Given the description of an element on the screen output the (x, y) to click on. 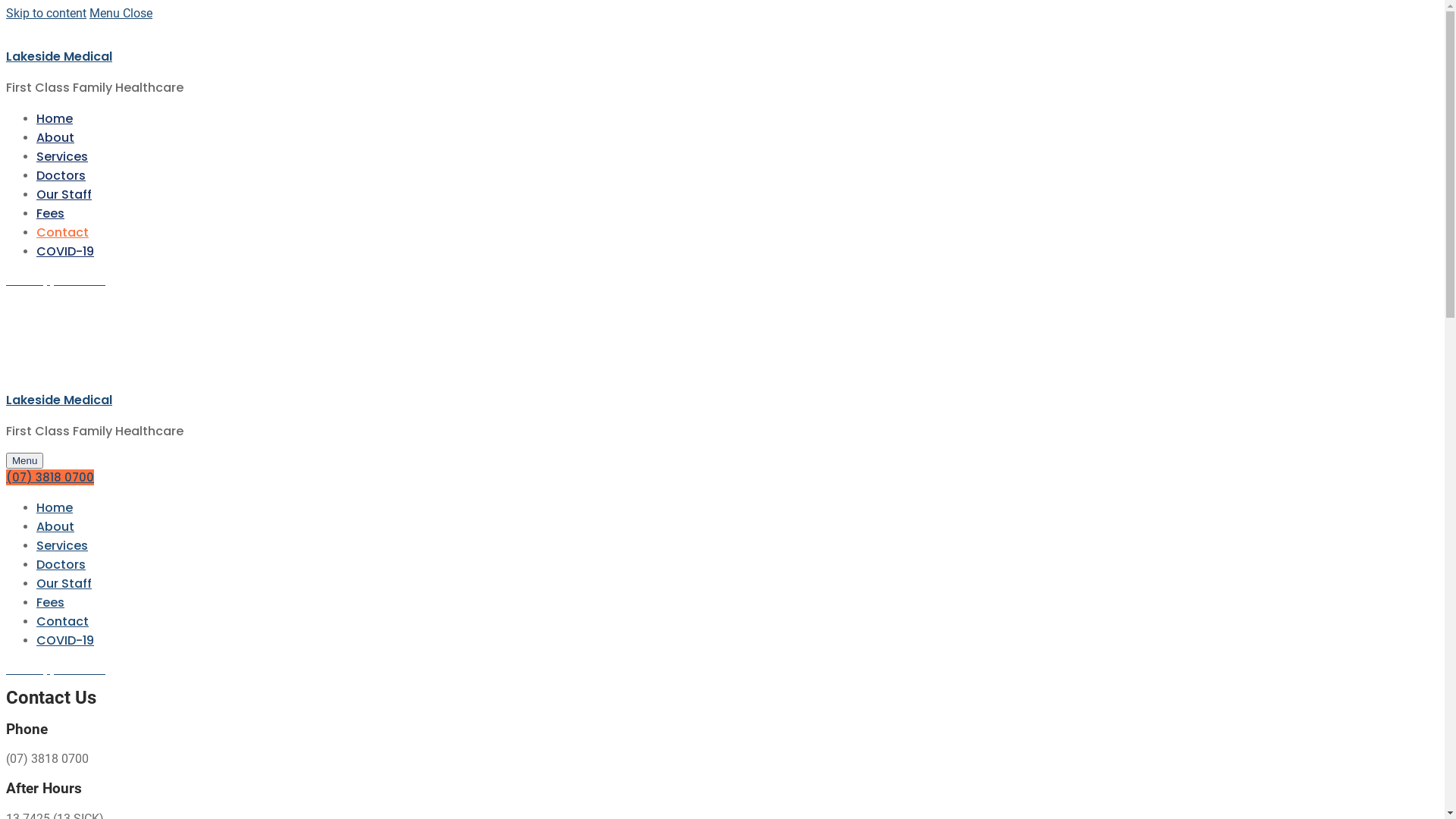
Home Element type: text (54, 118)
Skip to content Element type: text (46, 13)
About Element type: text (55, 137)
Fees Element type: text (50, 602)
Menu Close Element type: text (120, 13)
Our Staff Element type: text (63, 583)
About Element type: text (55, 526)
Book Appointment Element type: text (55, 280)
Services Element type: text (61, 545)
Doctors Element type: text (60, 175)
(07) 3818 0700 Element type: text (50, 477)
Fees Element type: text (50, 213)
Contact Element type: text (62, 621)
Lakeside Medical Element type: text (59, 56)
Menu Element type: text (24, 460)
COVID-19 Element type: text (65, 251)
Lakeside Medical Element type: text (59, 399)
Our Staff Element type: text (63, 194)
Book Appointment Element type: text (55, 669)
Services Element type: text (61, 156)
Home Element type: text (54, 507)
COVID-19 Element type: text (65, 640)
Contact Element type: text (62, 232)
Doctors Element type: text (60, 564)
